Given the description of an element on the screen output the (x, y) to click on. 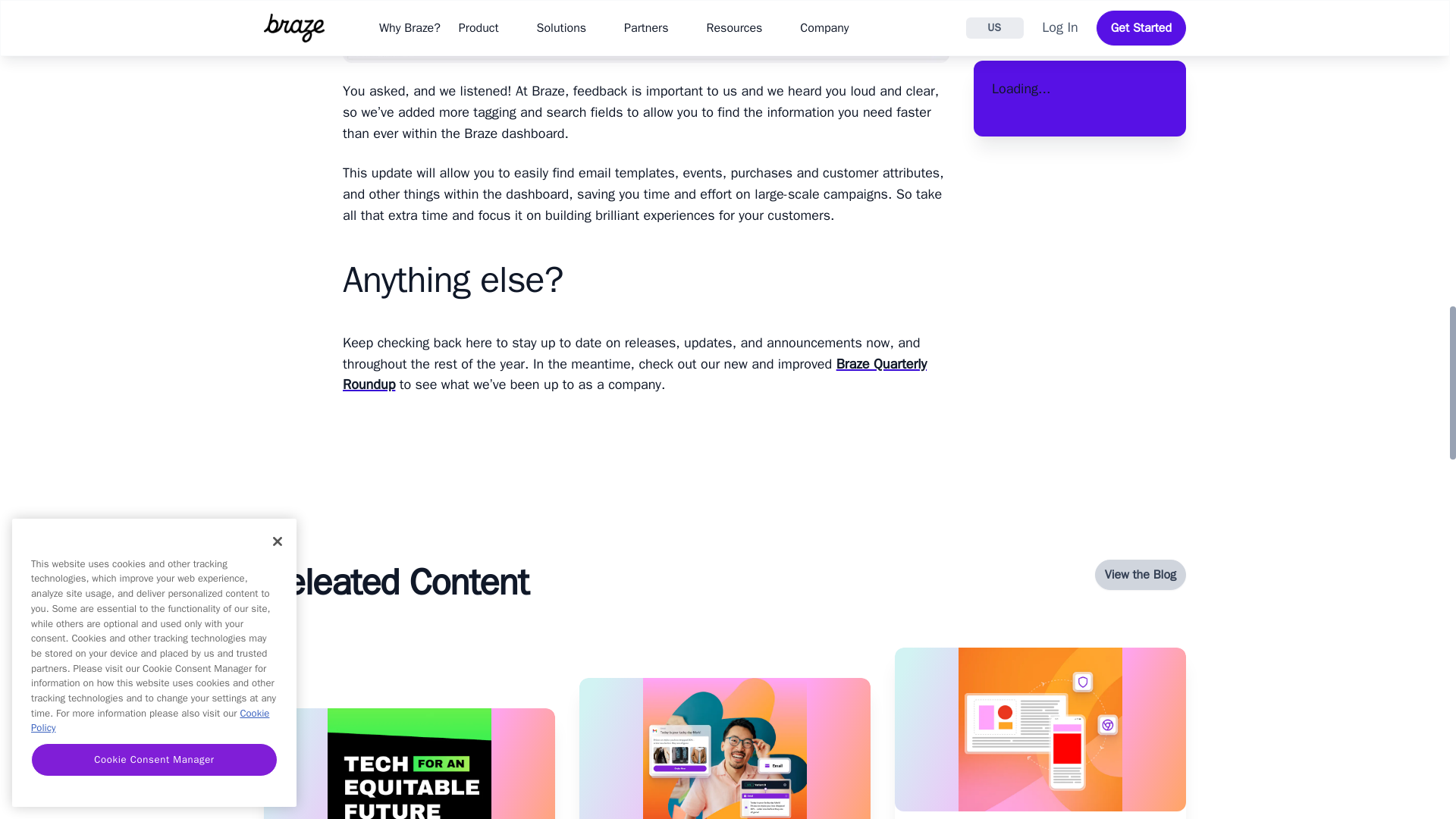
View the Blog (1140, 574)
Braze Quarterly Roundup (634, 374)
